Given the description of an element on the screen output the (x, y) to click on. 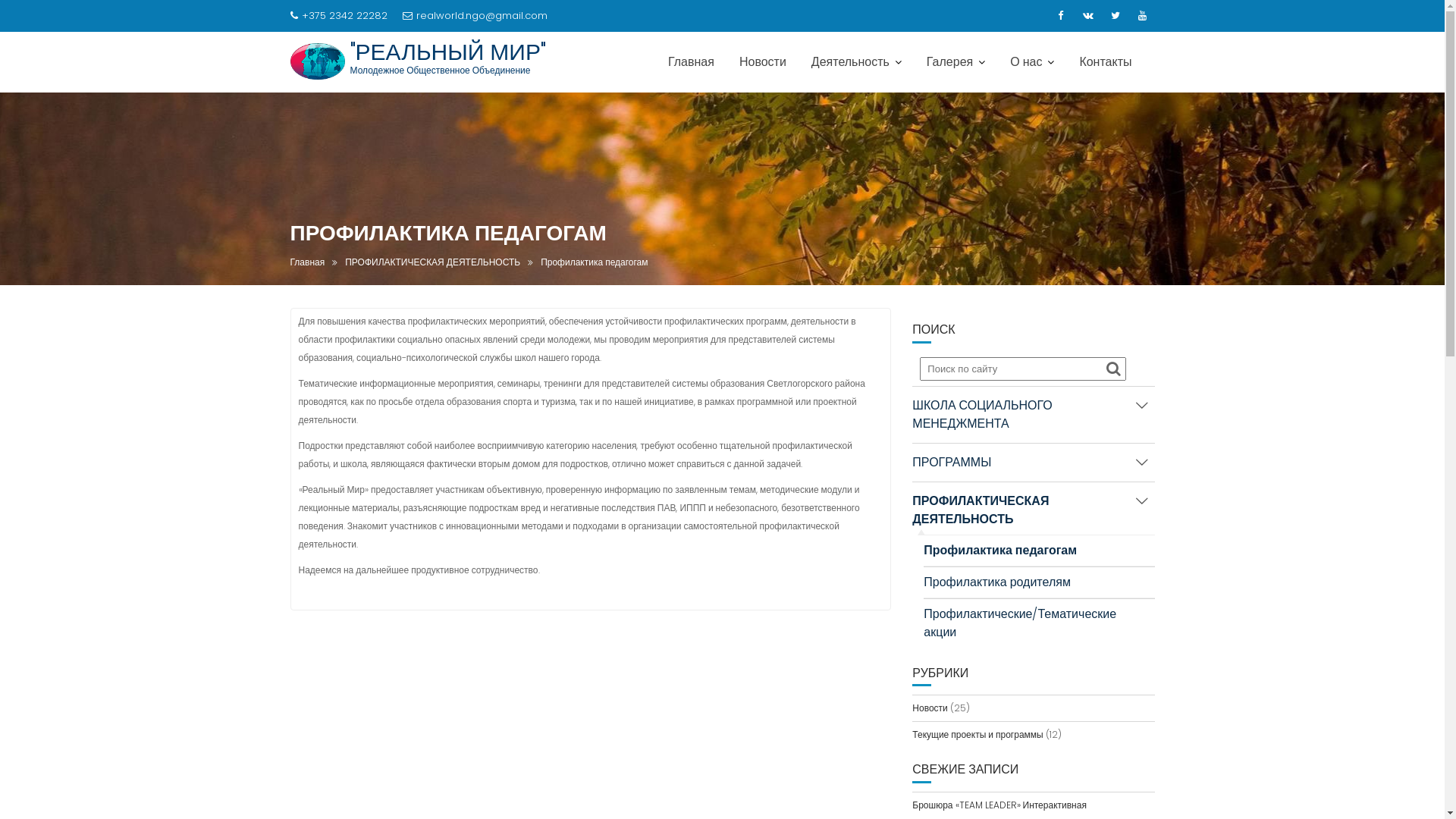
realworld.ngo@gmail.com Element type: text (473, 15)
Twitter Element type: hover (1114, 15)
Facebook Element type: hover (1060, 15)
Youtube Element type: hover (1141, 15)
VK Element type: hover (1087, 15)
